Given the description of an element on the screen output the (x, y) to click on. 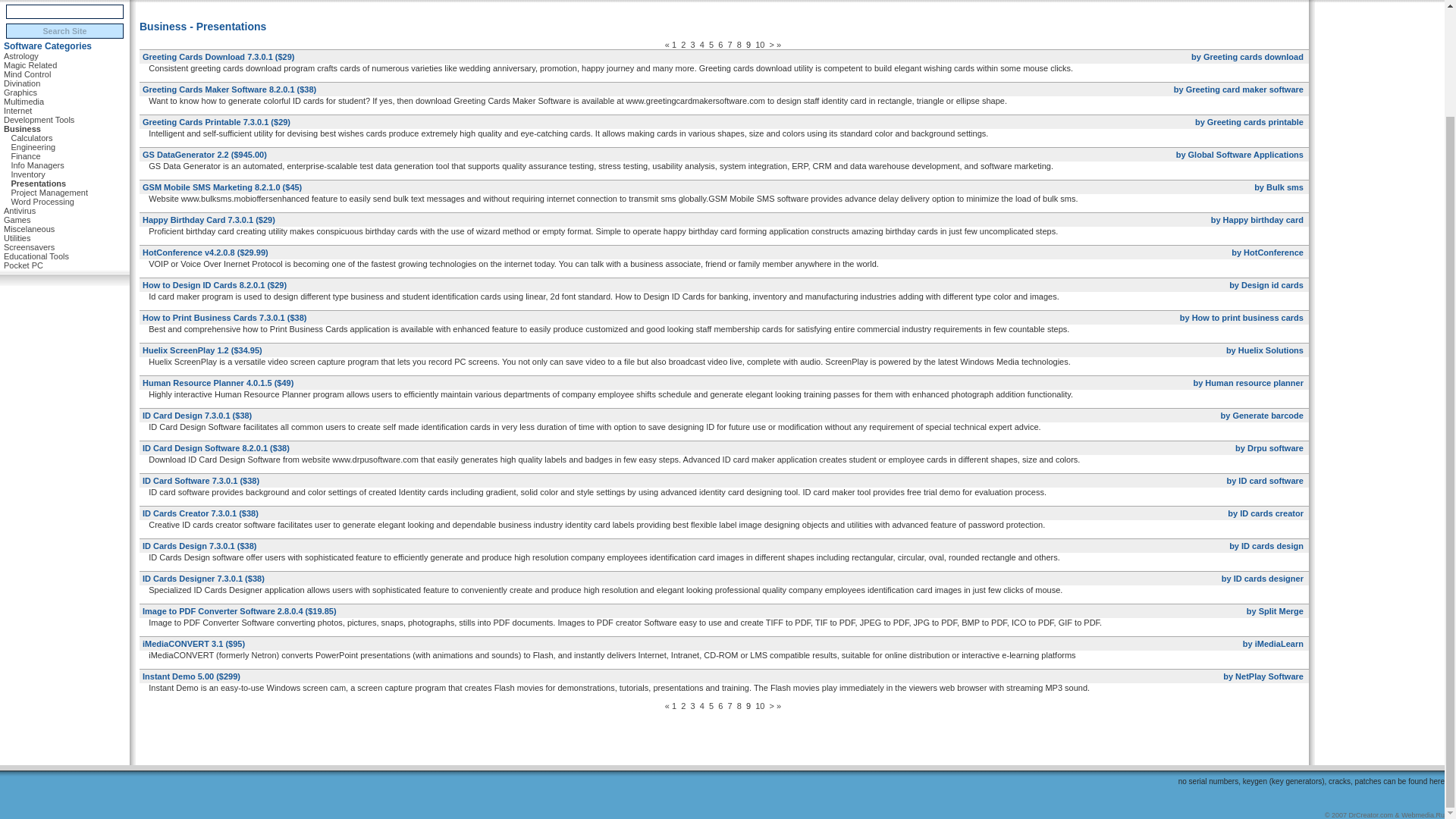
Word Processing (42, 201)
Search Site (64, 30)
Educational Tools (36, 256)
Engineering (32, 147)
Business (22, 128)
Search Site (64, 30)
Miscelaneous (29, 229)
Presentations (37, 183)
Pocket PC (23, 265)
Calculators (31, 137)
Advertisement (724, 7)
Finance (25, 156)
Antivirus (19, 210)
Info Managers (37, 165)
Astrology (21, 55)
